Given the description of an element on the screen output the (x, y) to click on. 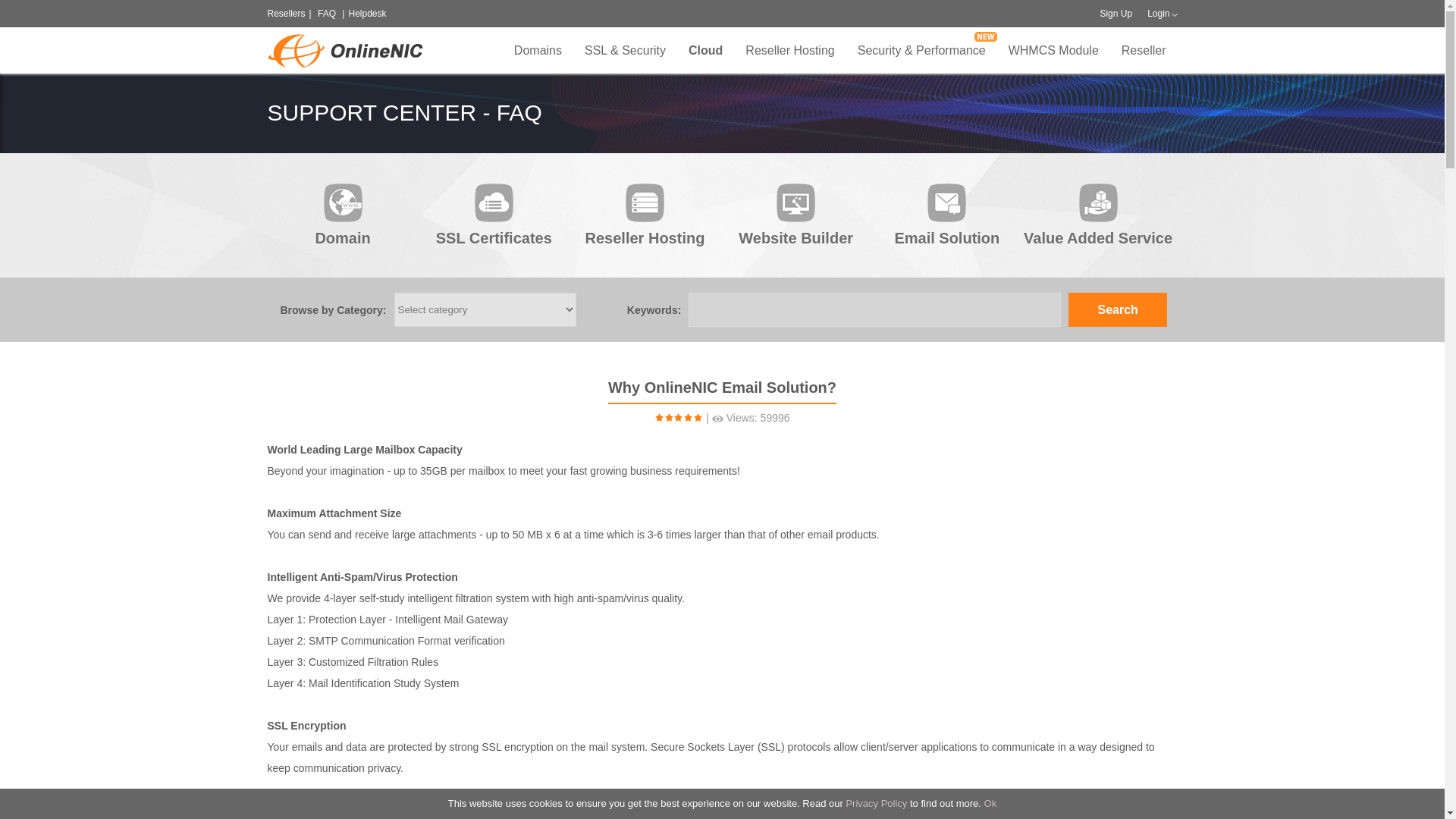
Search (1117, 309)
Helpdesk (366, 13)
Login (1158, 13)
Domains (537, 50)
FAQ (326, 13)
Sign Up (1115, 13)
Resellers (285, 13)
